Given the description of an element on the screen output the (x, y) to click on. 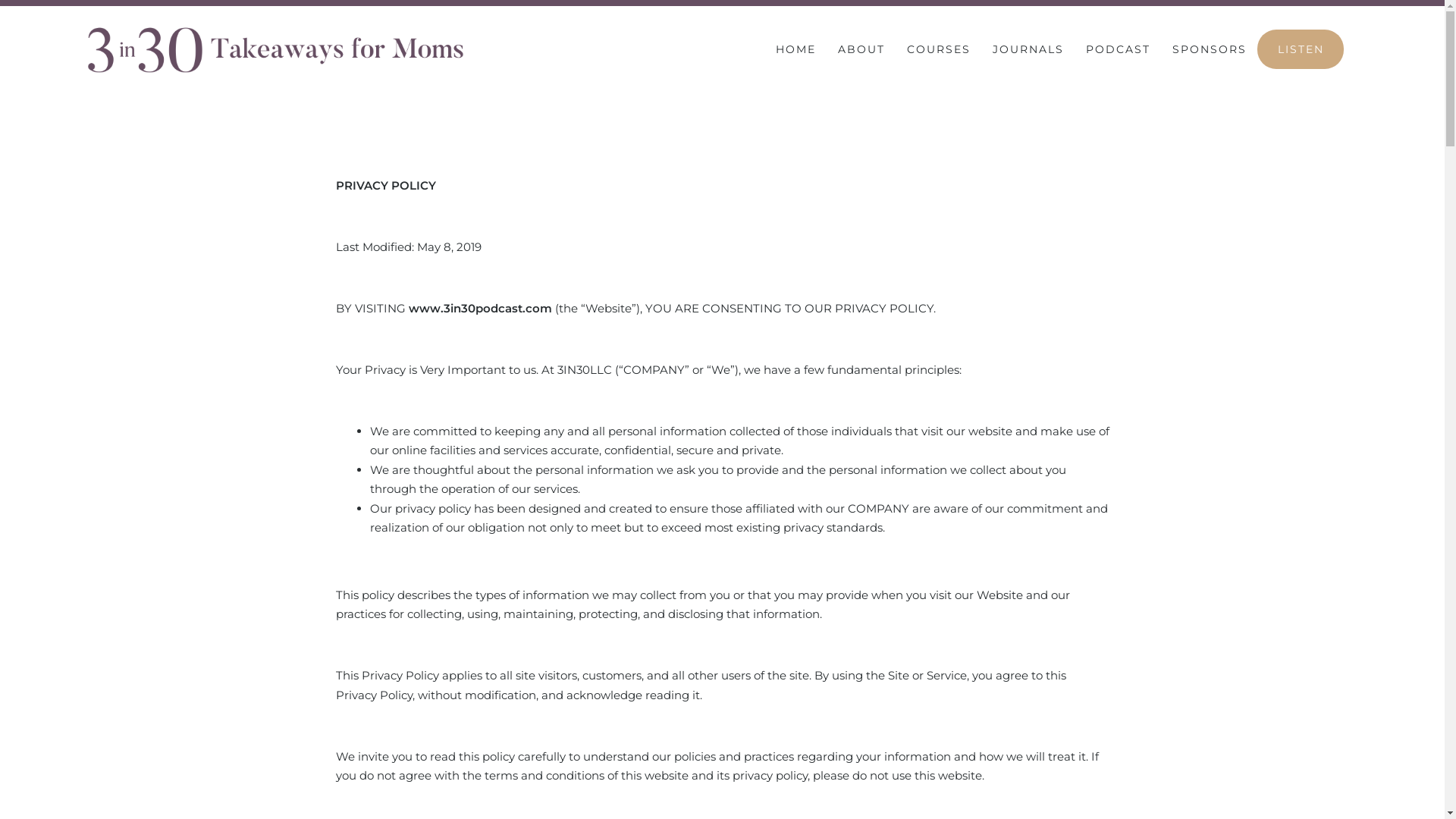
PODCAST Element type: text (1118, 49)
COURSES Element type: text (938, 49)
ABOUT Element type: text (861, 49)
SPONSORS Element type: text (1209, 49)
HOME Element type: text (795, 49)
JOURNALS Element type: text (1028, 49)
LISTEN Element type: text (1300, 49)
